Given the description of an element on the screen output the (x, y) to click on. 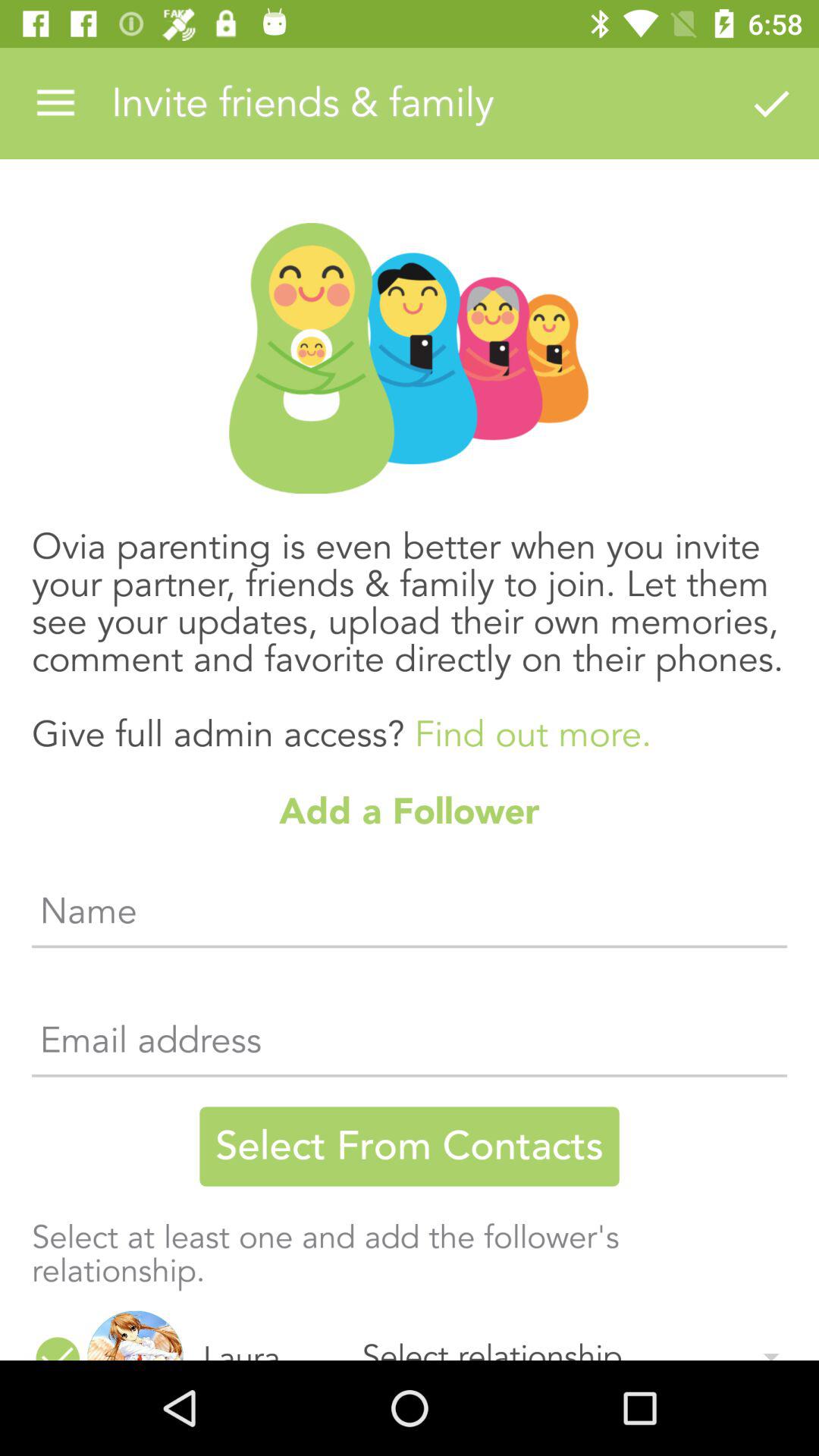
turn off item above the ovia parenting is item (771, 103)
